Given the description of an element on the screen output the (x, y) to click on. 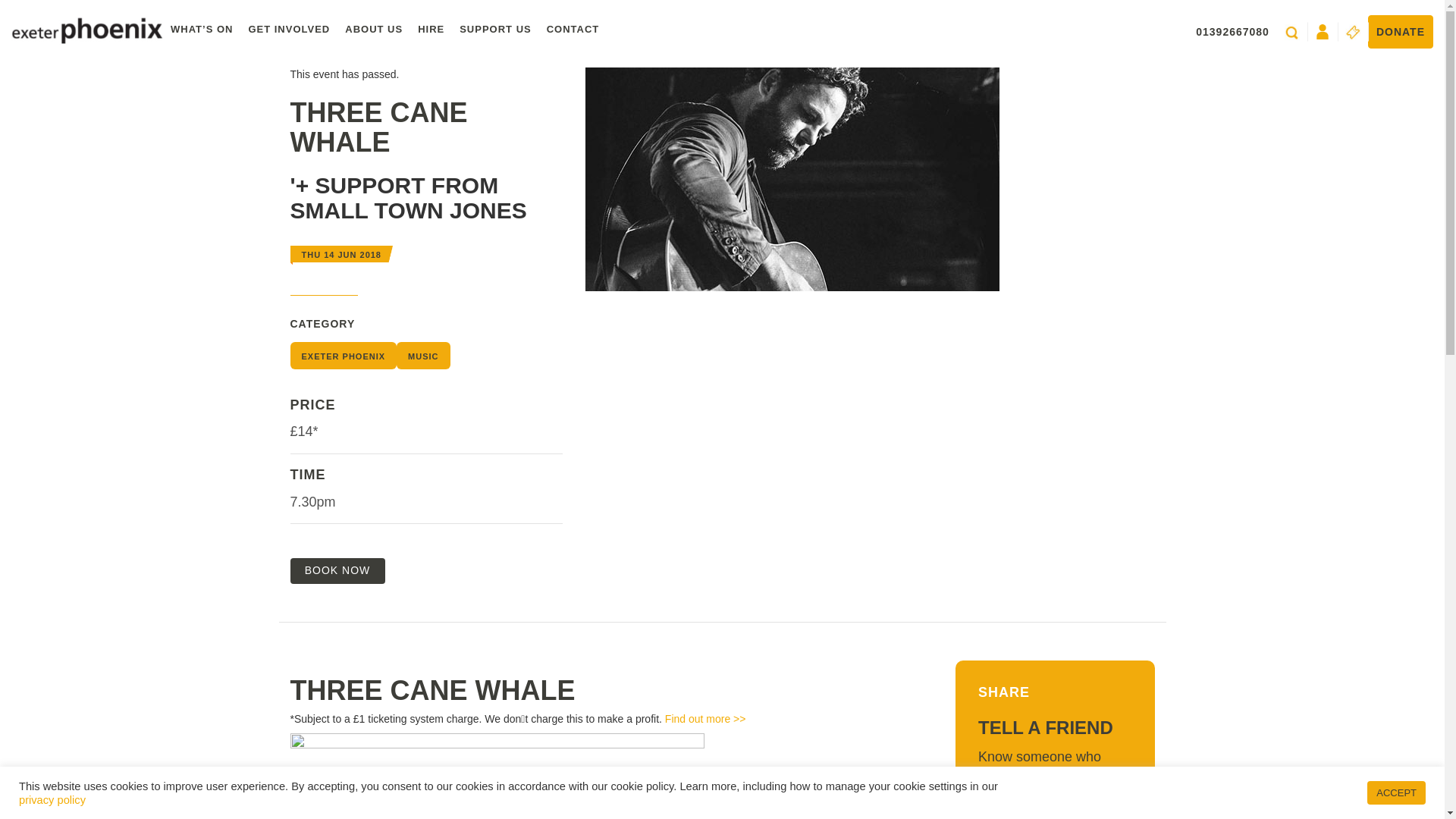
SUPPORT US (494, 30)
HIRE (430, 30)
CONTACT (572, 30)
ABOUT US (373, 30)
GET INVOLVED (288, 30)
